Given the description of an element on the screen output the (x, y) to click on. 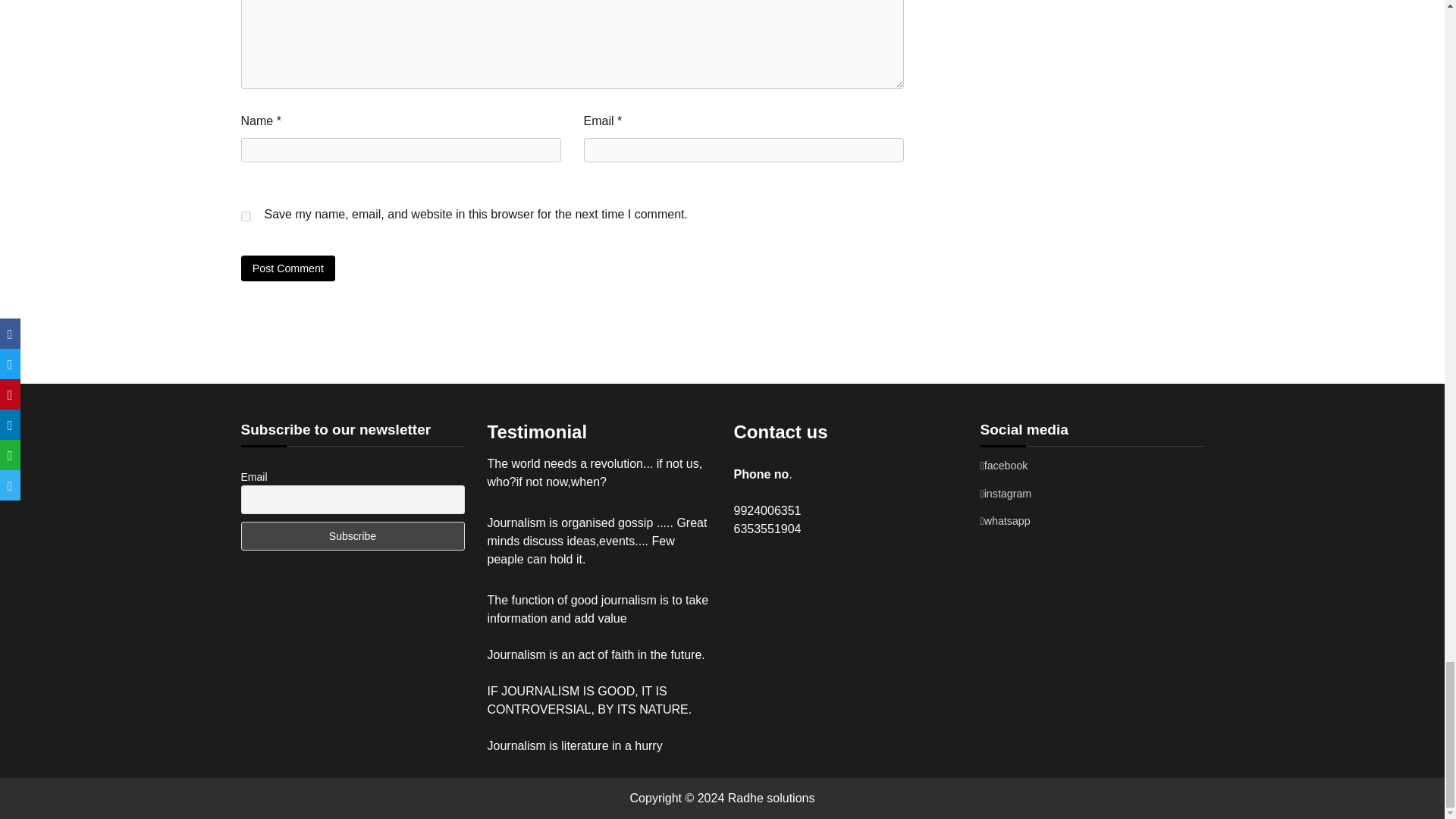
yes (245, 216)
Post Comment (288, 267)
Subscribe (352, 535)
